Given the description of an element on the screen output the (x, y) to click on. 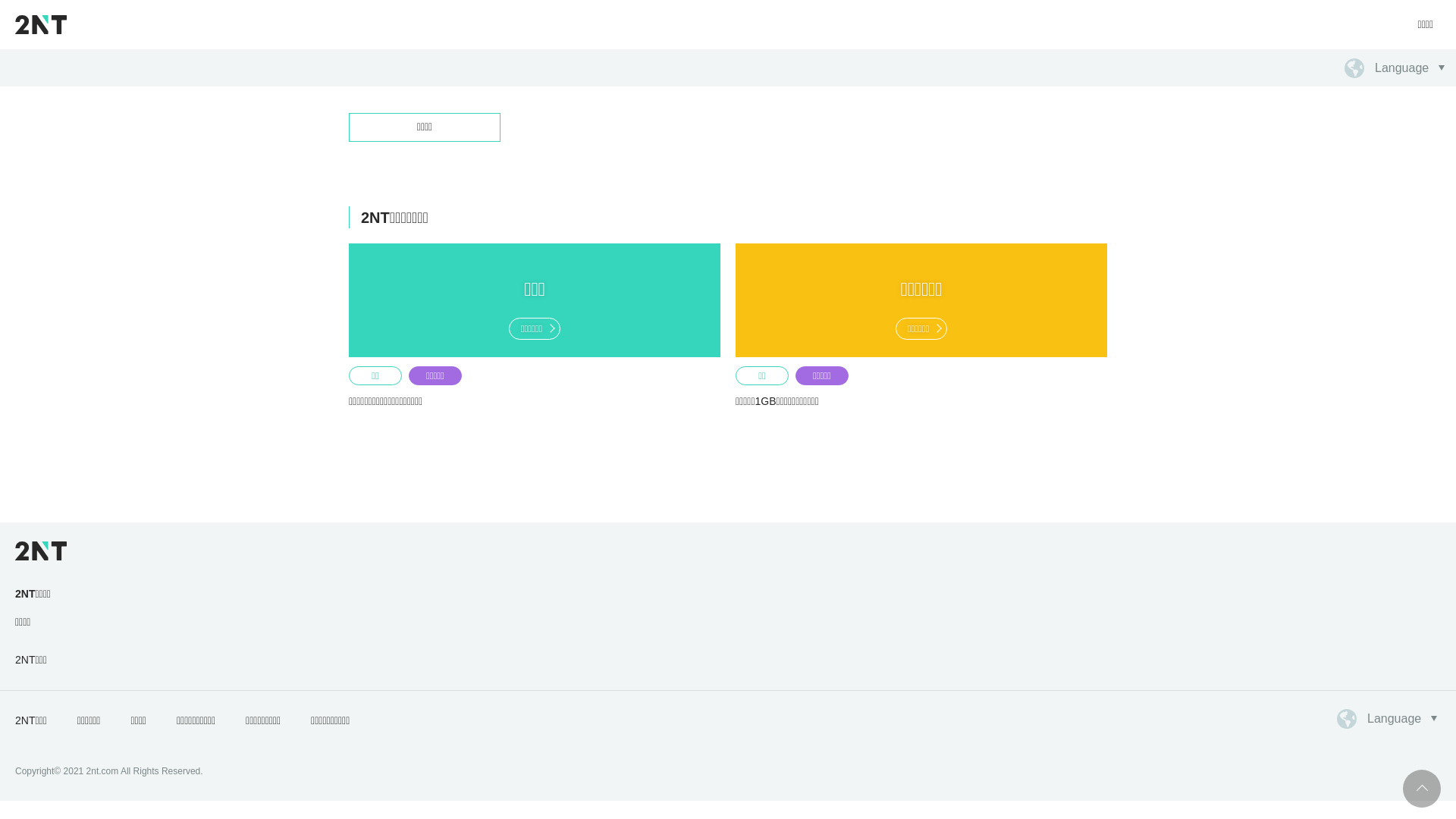
2NT Element type: hover (40, 24)
